Given the description of an element on the screen output the (x, y) to click on. 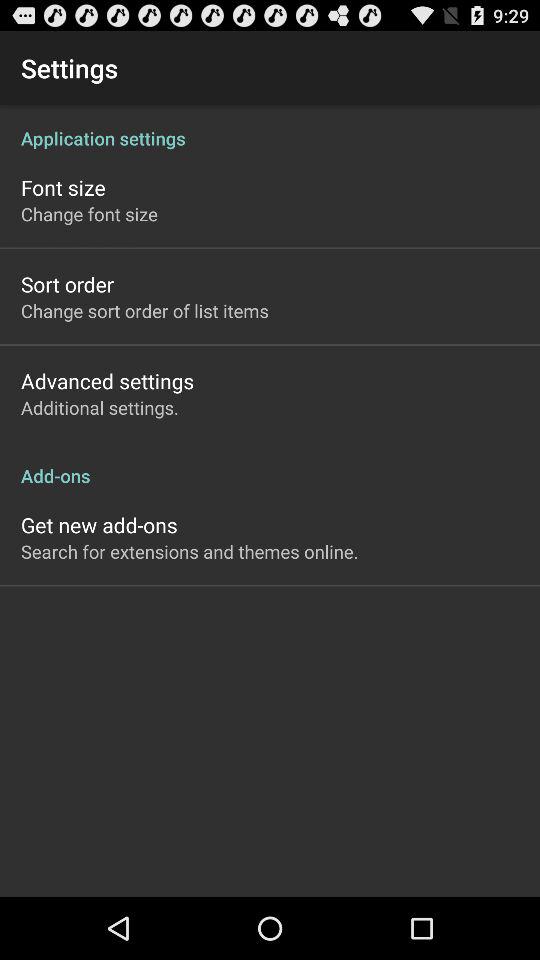
choose the application settings at the top (270, 127)
